Given the description of an element on the screen output the (x, y) to click on. 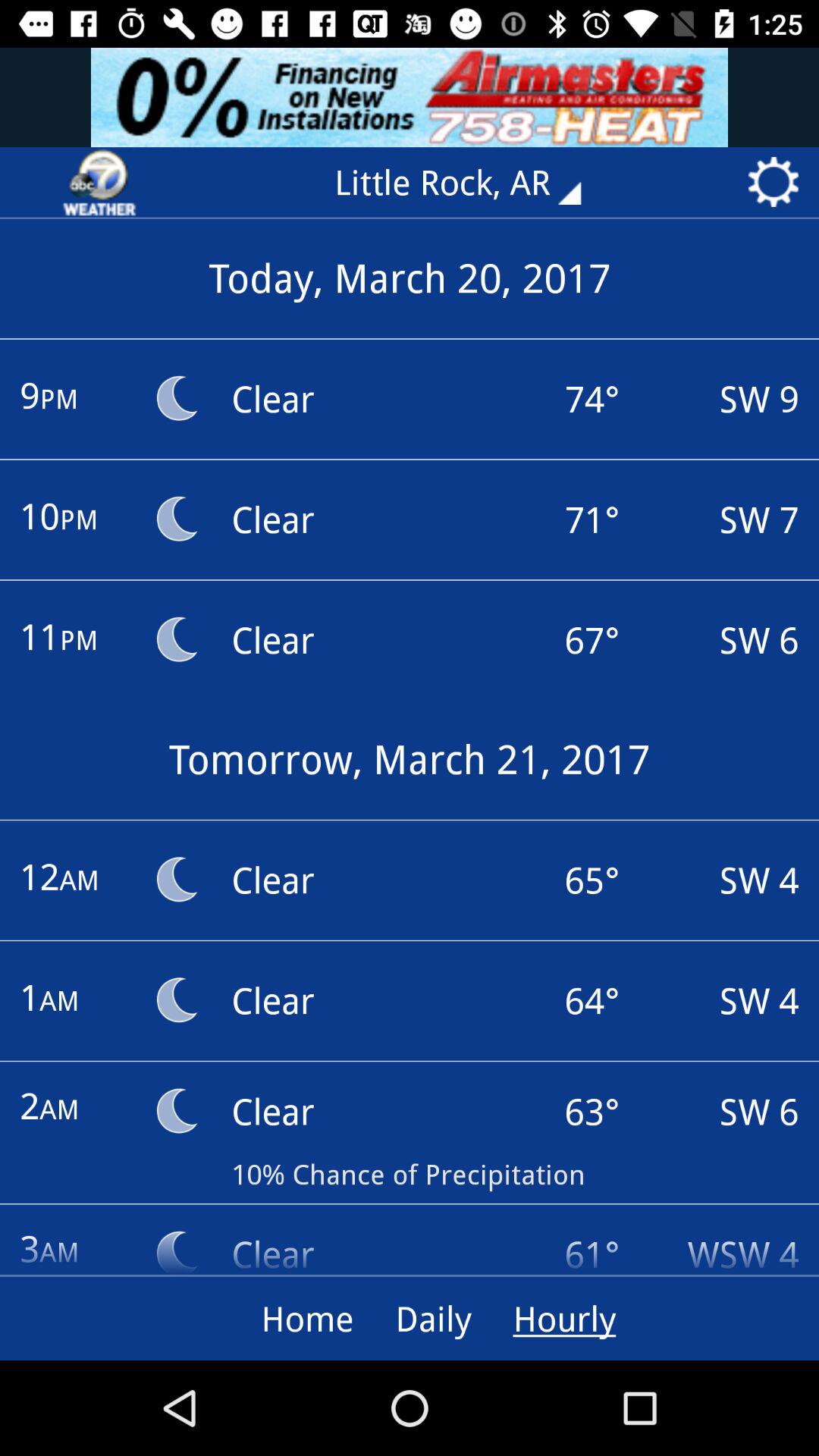
select advertisement (409, 97)
